Given the description of an element on the screen output the (x, y) to click on. 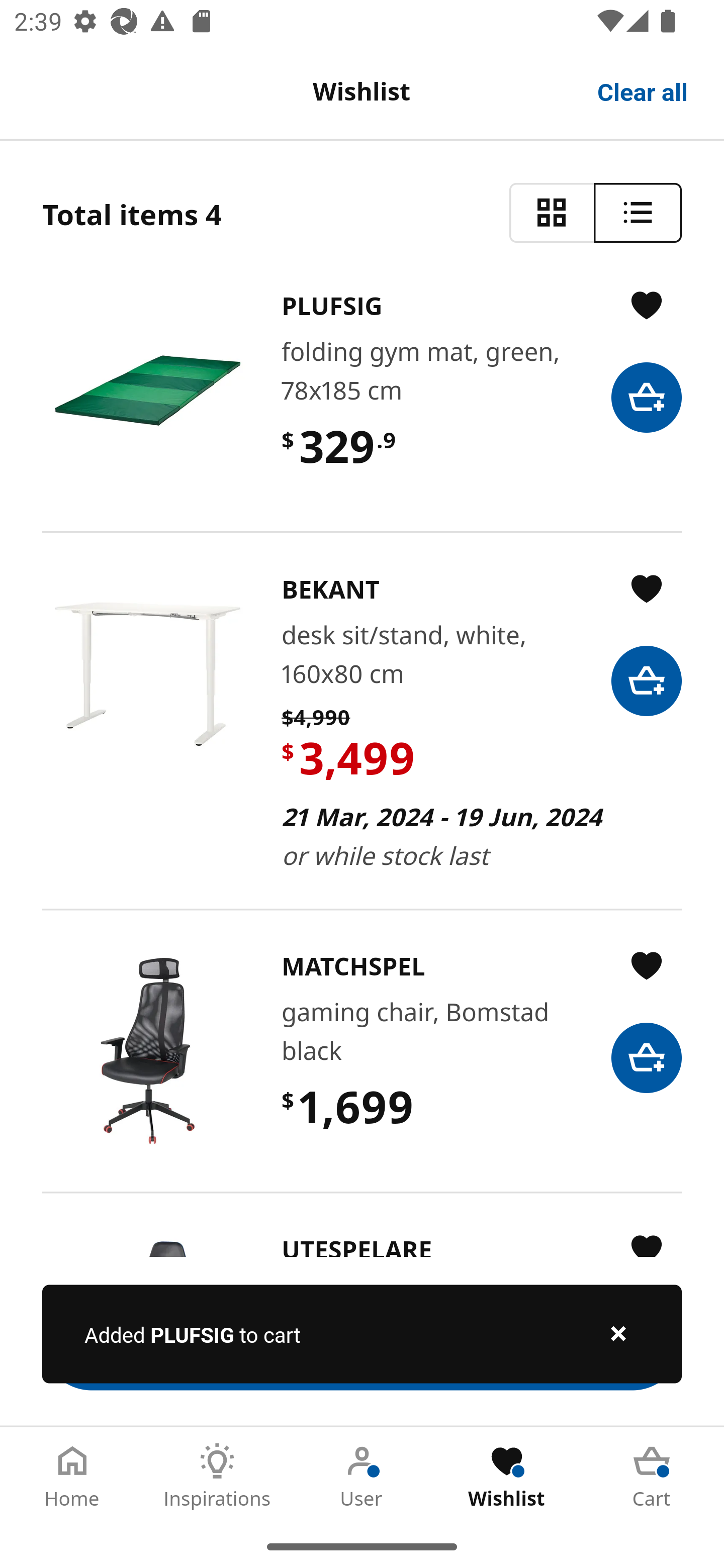
Clear all (643, 90)
Added PLUFSIG to cart (361, 1333)
Home
Tab 1 of 5 (72, 1476)
Inspirations
Tab 2 of 5 (216, 1476)
User
Tab 3 of 5 (361, 1476)
Wishlist
Tab 4 of 5 (506, 1476)
Cart
Tab 5 of 5 (651, 1476)
